Given the description of an element on the screen output the (x, y) to click on. 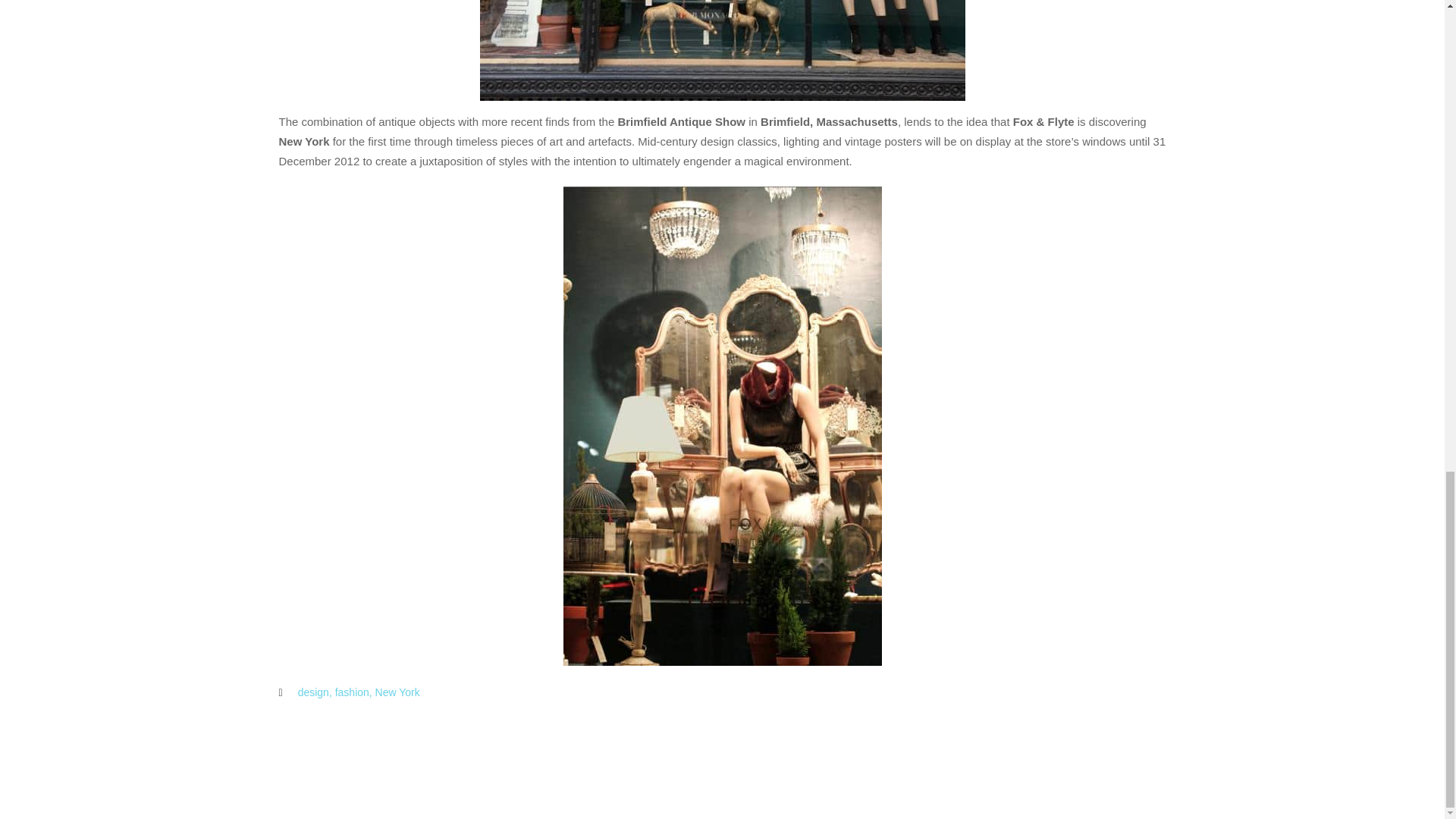
design (313, 691)
New York (397, 691)
fashion (351, 691)
